Given the description of an element on the screen output the (x, y) to click on. 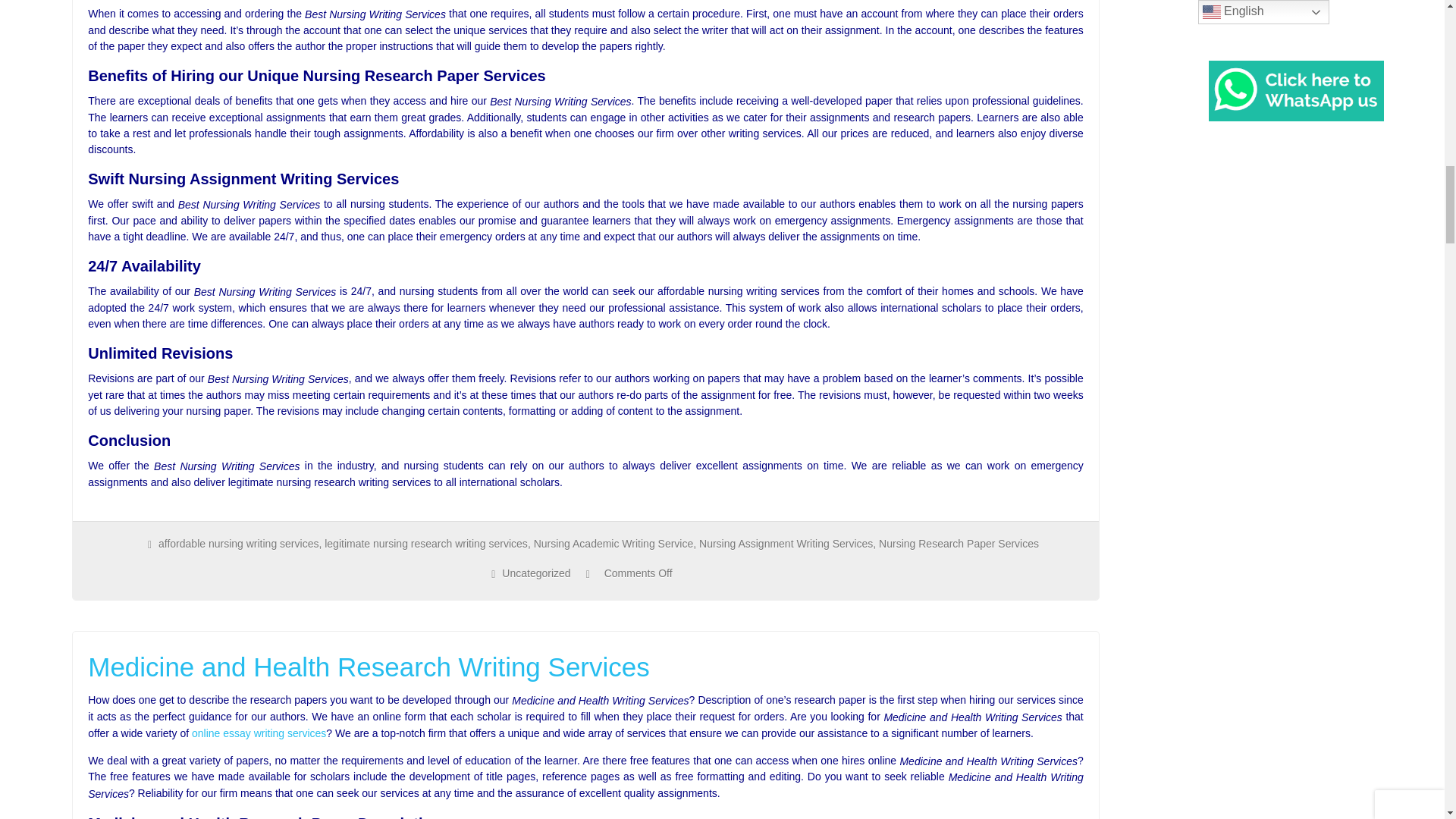
Nursing Assignment Writing Services (785, 543)
Medicine and Health Research Writing Services (585, 666)
online essay writing services (259, 733)
Uncategorized (536, 573)
legitimate nursing research writing services (425, 543)
Nursing Academic Writing Service (614, 543)
Nursing Research Paper Services (959, 543)
affordable nursing writing services (238, 543)
